Given the description of an element on the screen output the (x, y) to click on. 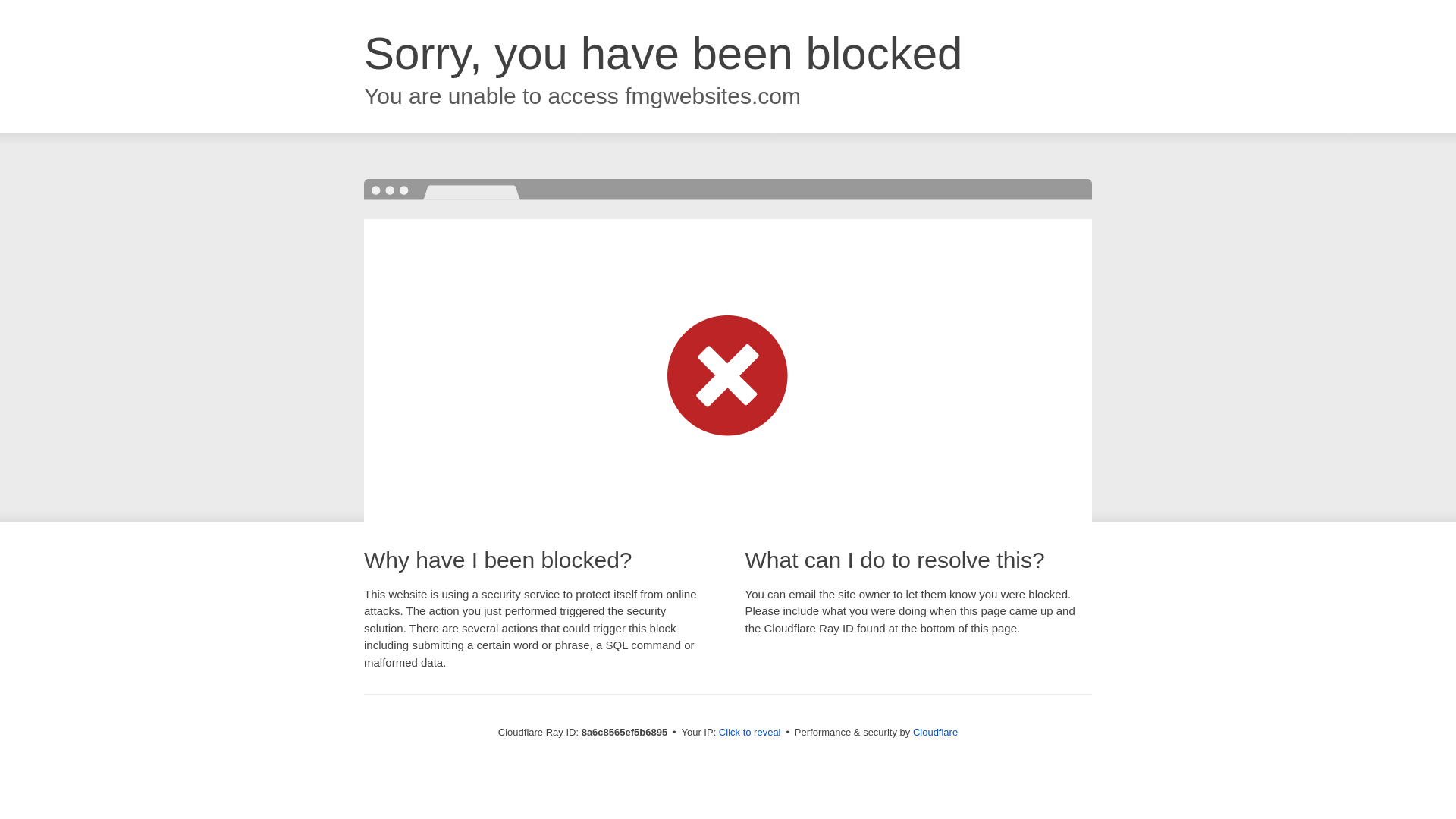
Click to reveal (749, 732)
Cloudflare (935, 731)
